Given the description of an element on the screen output the (x, y) to click on. 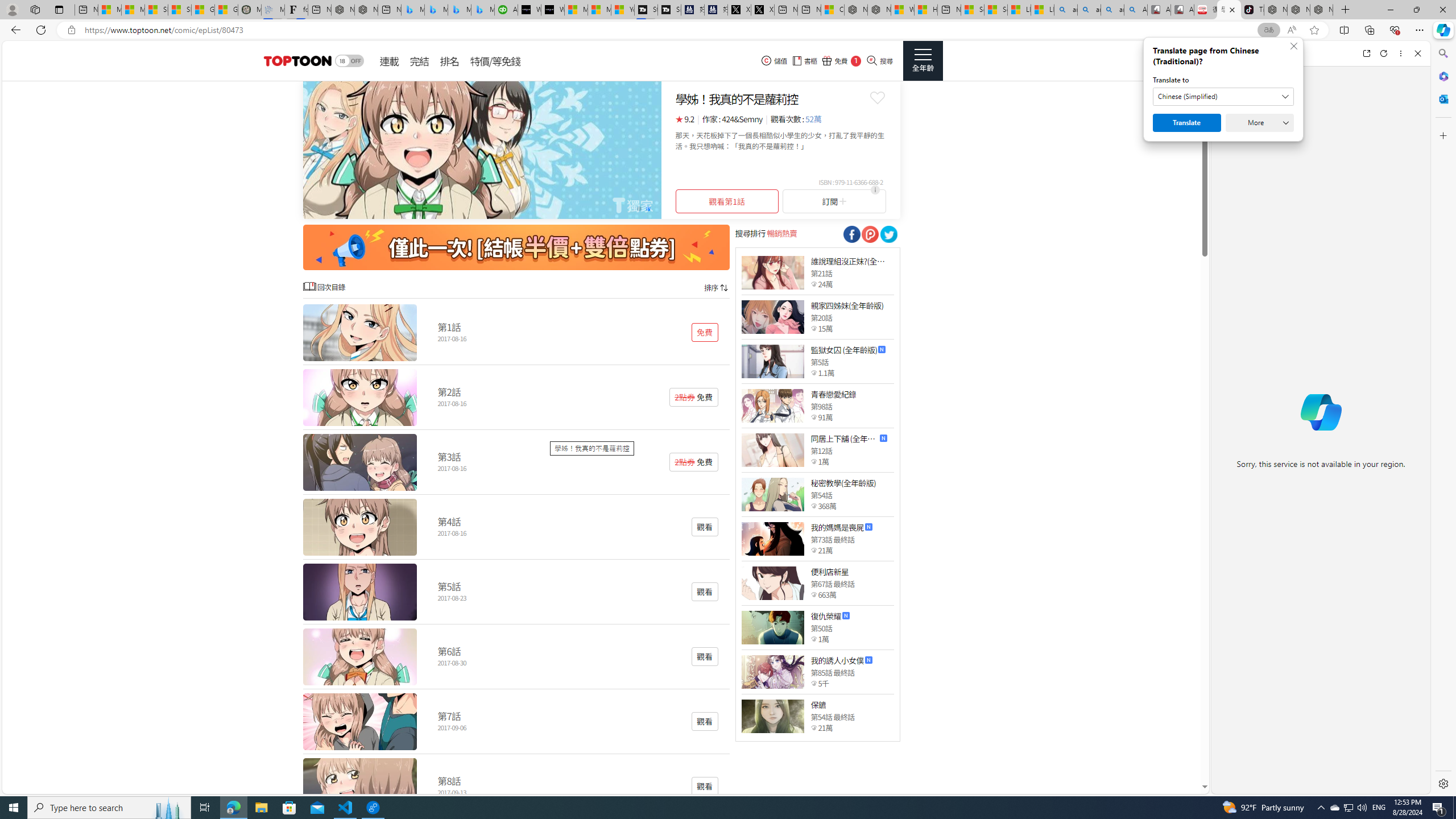
Open link in new tab (1366, 53)
Compose (1280, 52)
Class: swiper-slide swiper-slide-duplicate-active (481, 149)
